Given the description of an element on the screen output the (x, y) to click on. 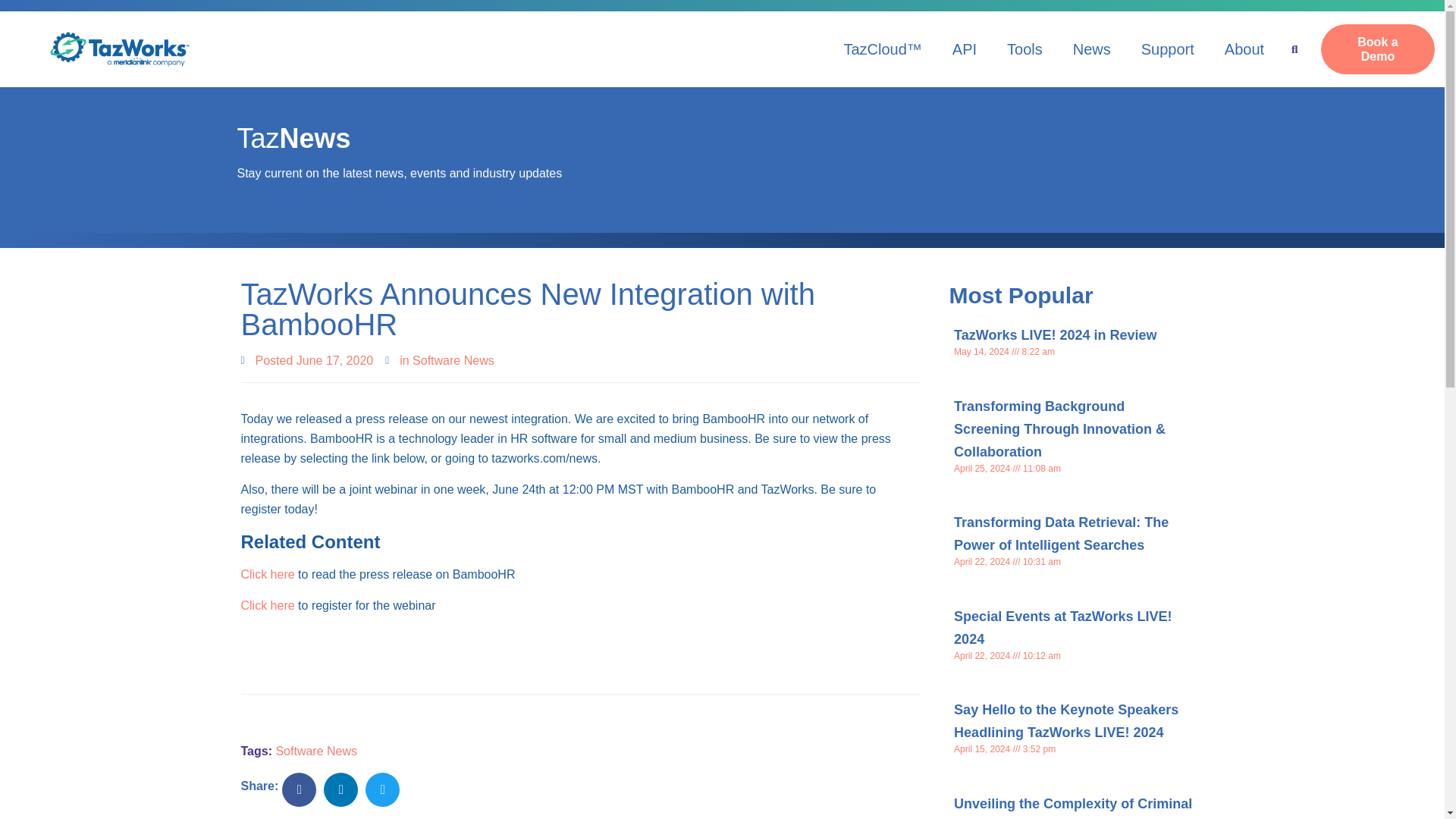
Click here (268, 574)
Click here (268, 604)
Posted June 17, 2020 (307, 361)
News (1091, 48)
Software News (453, 359)
Support (1167, 48)
About (1244, 48)
Book a Demo (1377, 49)
